Given the description of an element on the screen output the (x, y) to click on. 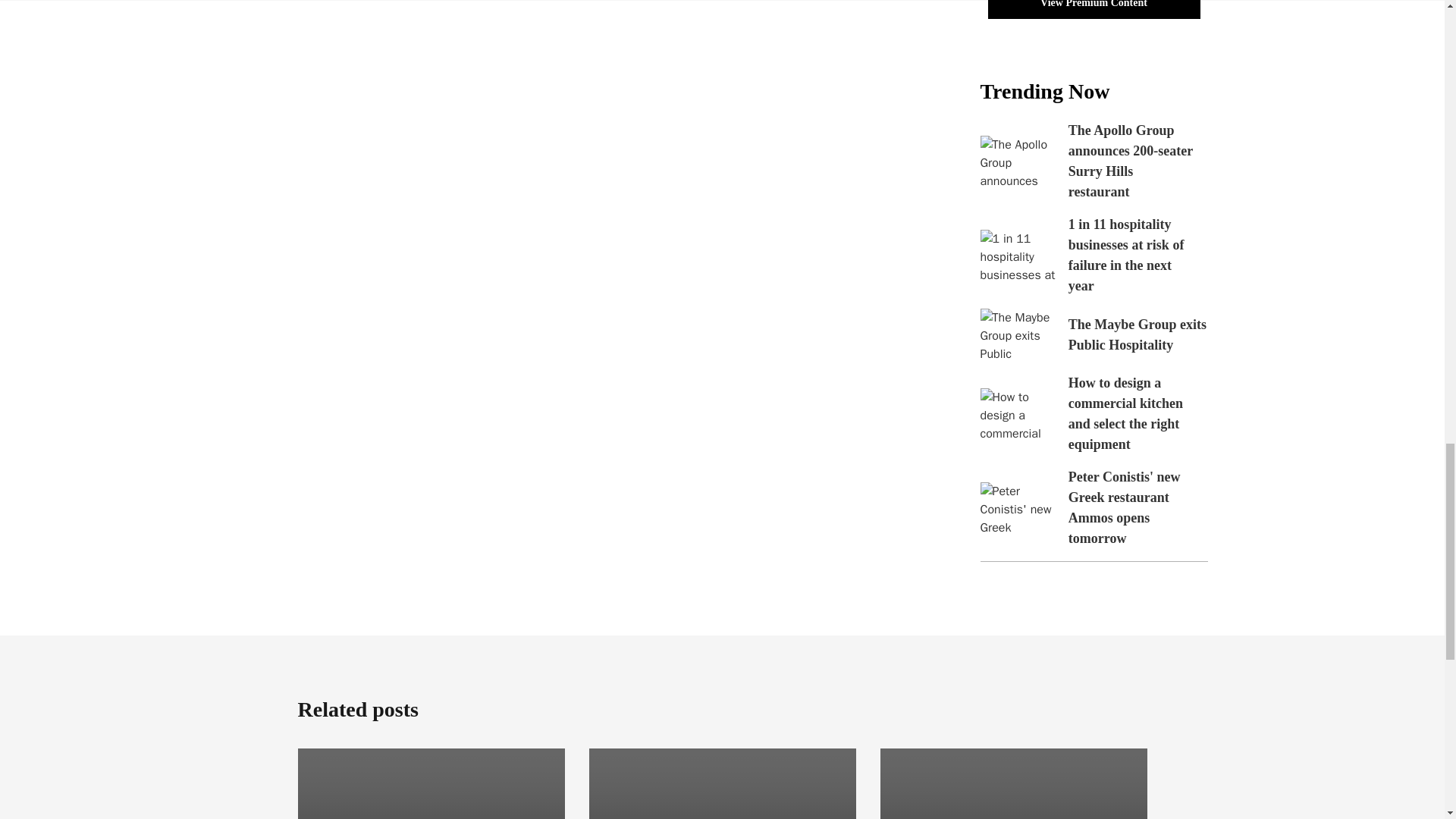
The Apollo Group announces 200-seater Surry Hills restaurant (1018, 161)
The Maybe Group exits Public Hospitality (1137, 334)
Peter Conistis' new Greek restaurant Ammos opens tomorrow (1018, 508)
Peter Conistis' new Greek restaurant Ammos opens tomorrow (1124, 507)
The Apollo Group announces 200-seater Surry Hills restaurant (1130, 160)
The Maybe Group exits Public Hospitality (1018, 334)
